Given the description of an element on the screen output the (x, y) to click on. 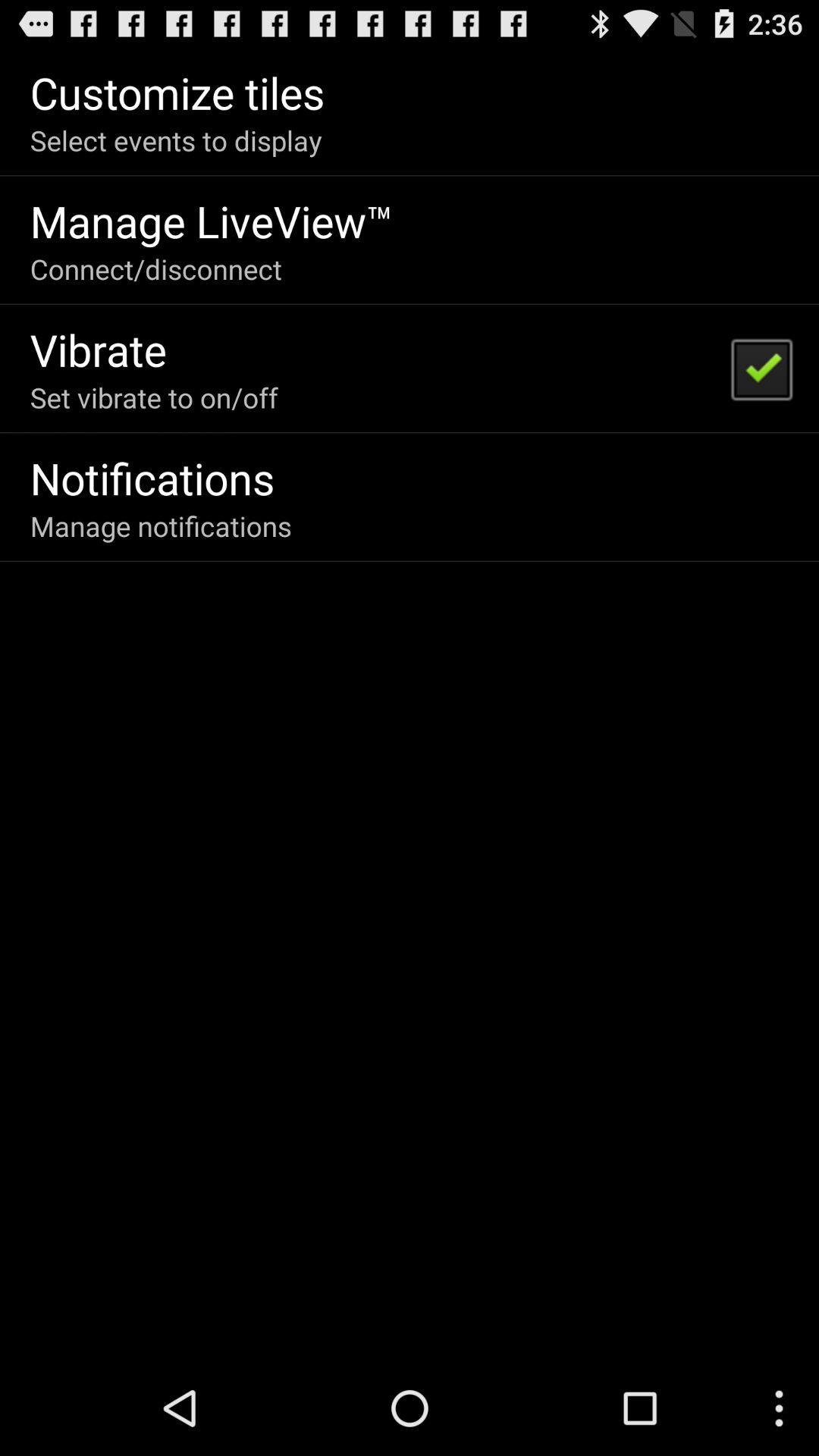
turn off icon at the top right corner (761, 368)
